Given the description of an element on the screen output the (x, y) to click on. 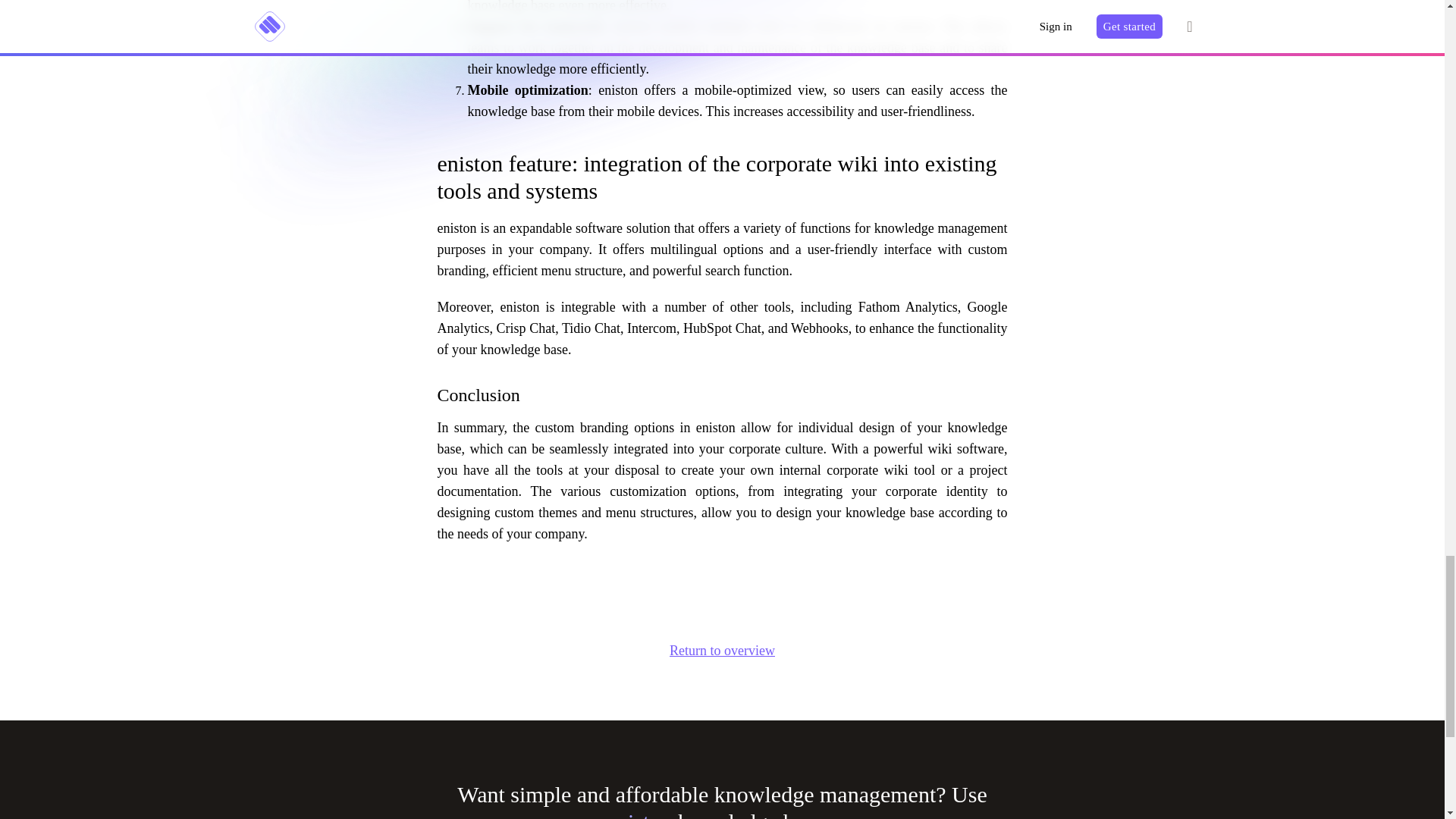
Return to overview (721, 650)
